Given the description of an element on the screen output the (x, y) to click on. 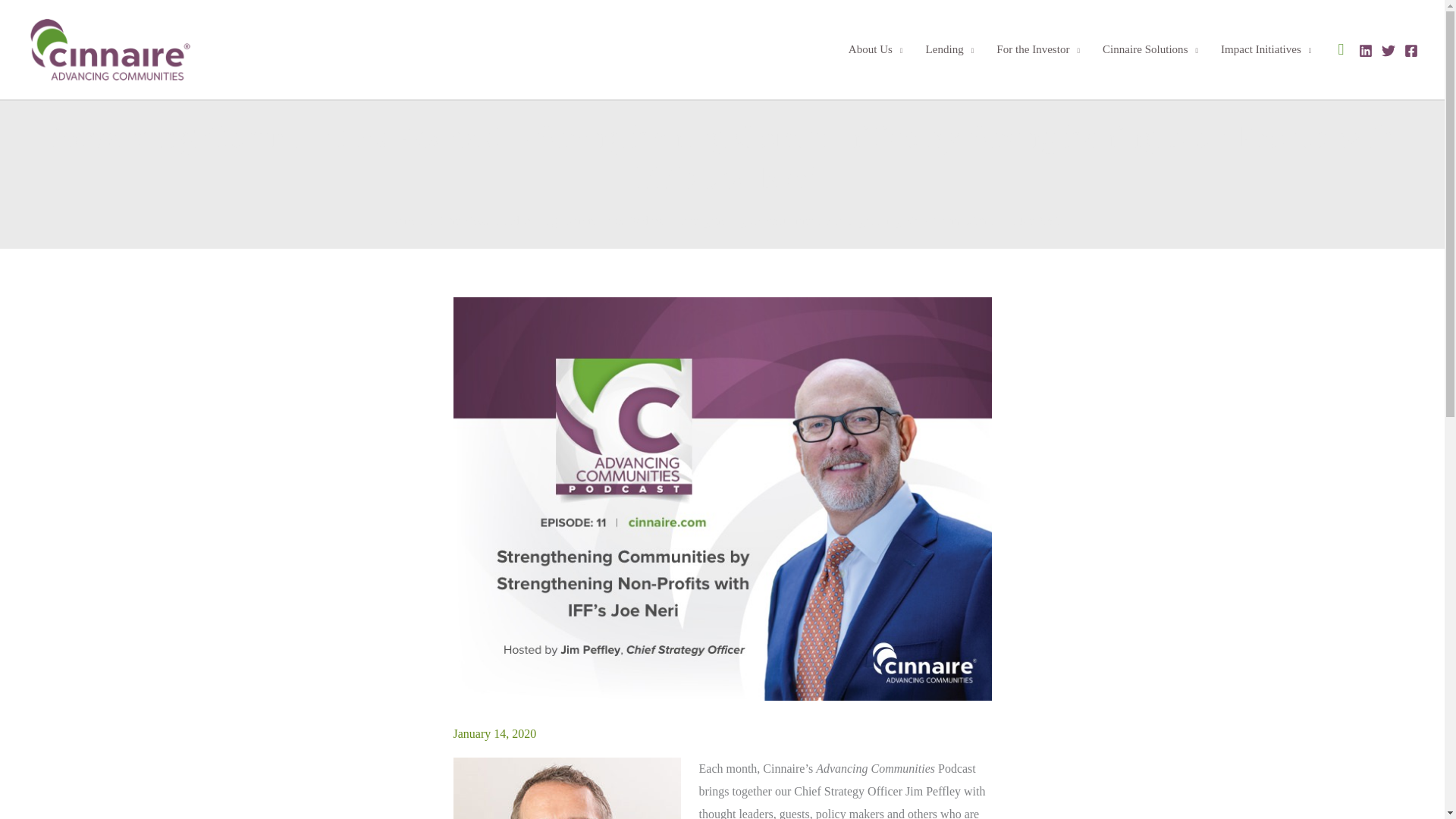
Lending (949, 48)
About Us (875, 48)
For the Investor (1037, 48)
Cinnaire Solutions (1149, 48)
